Given the description of an element on the screen output the (x, y) to click on. 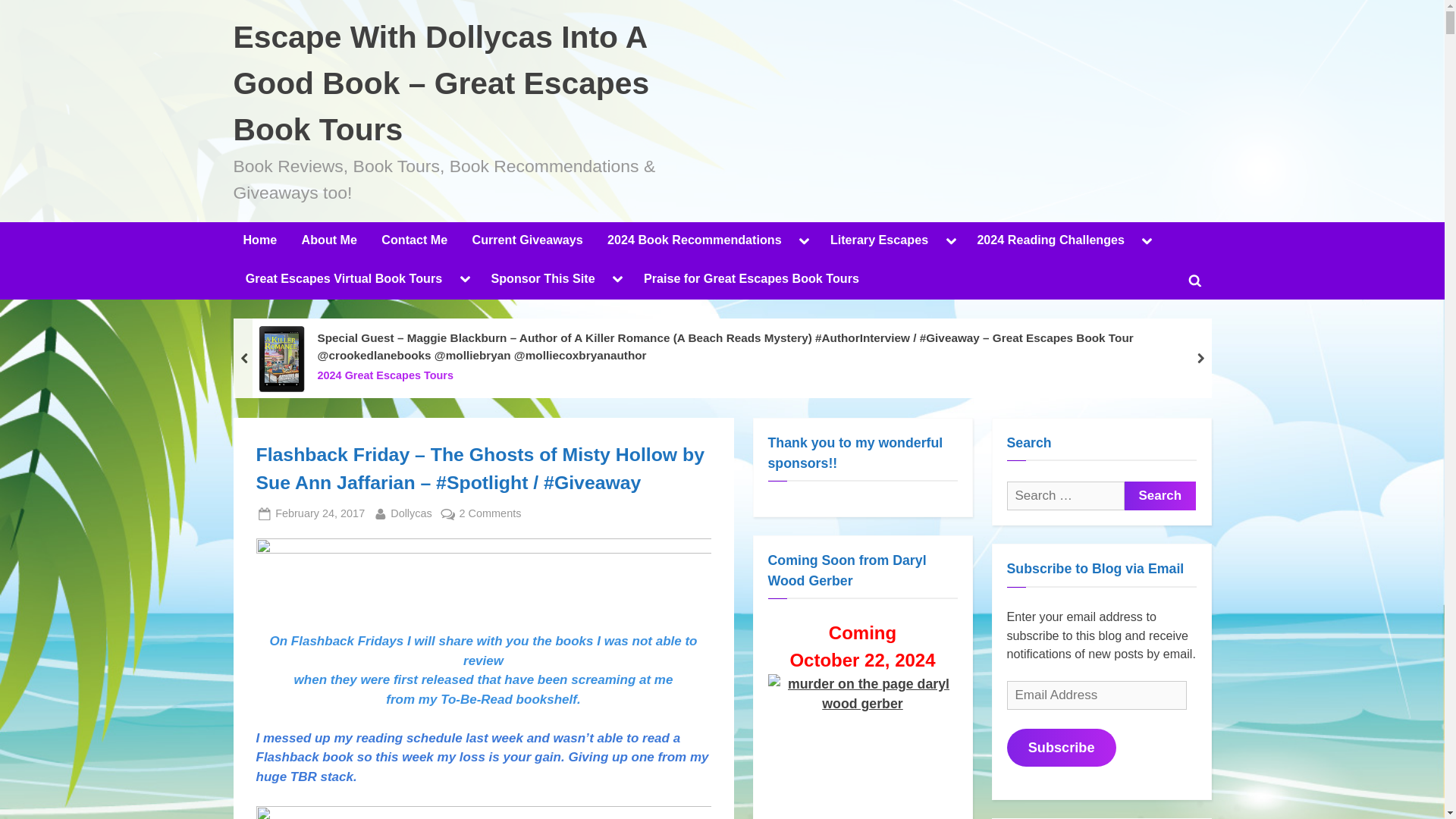
Home (259, 241)
About Me (329, 241)
2024 Book Recommendations (693, 241)
Toggle sub-menu (950, 241)
Search (1159, 495)
Contact Me (414, 241)
Search (1159, 495)
Current Giveaways (527, 241)
Literary Escapes (879, 241)
Toggle sub-menu (804, 241)
